Given the description of an element on the screen output the (x, y) to click on. 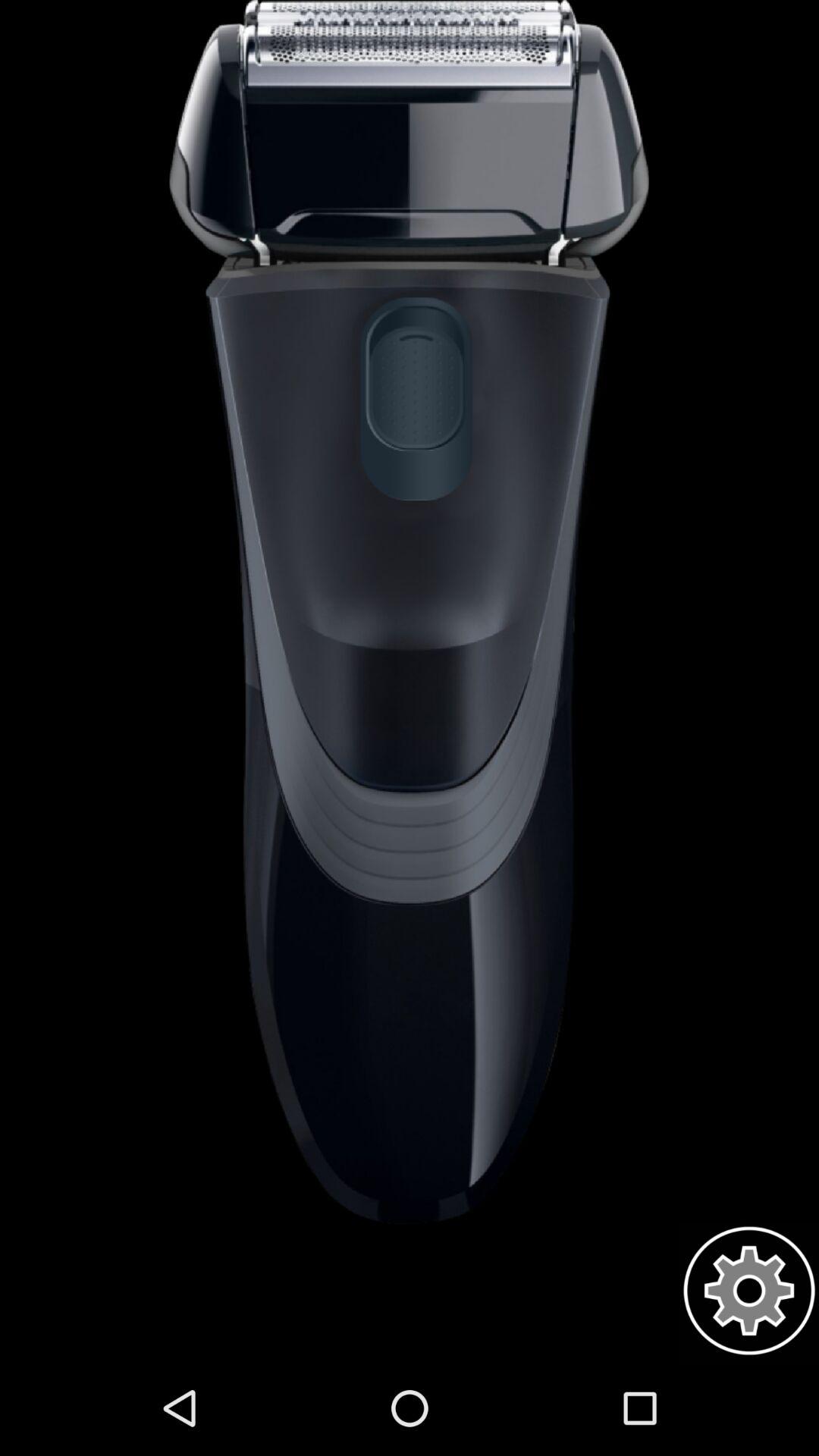
open settings (749, 1290)
